Given the description of an element on the screen output the (x, y) to click on. 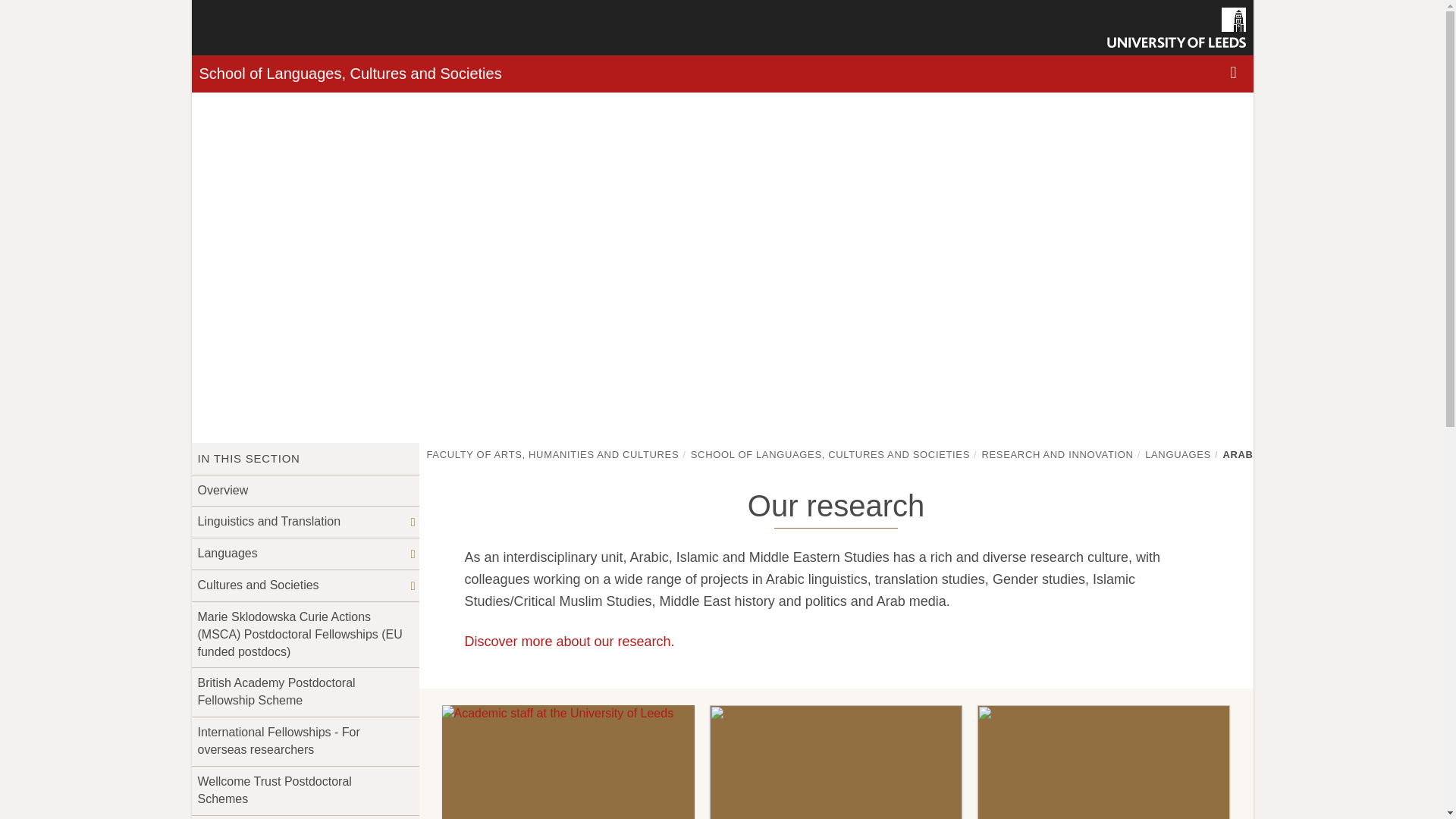
Research projects (836, 762)
Postgraduate researchers (1103, 762)
University of Leeds homepage (1176, 27)
School of Languages, Cultures and Societies (349, 73)
Our expertise (567, 762)
